Given the description of an element on the screen output the (x, y) to click on. 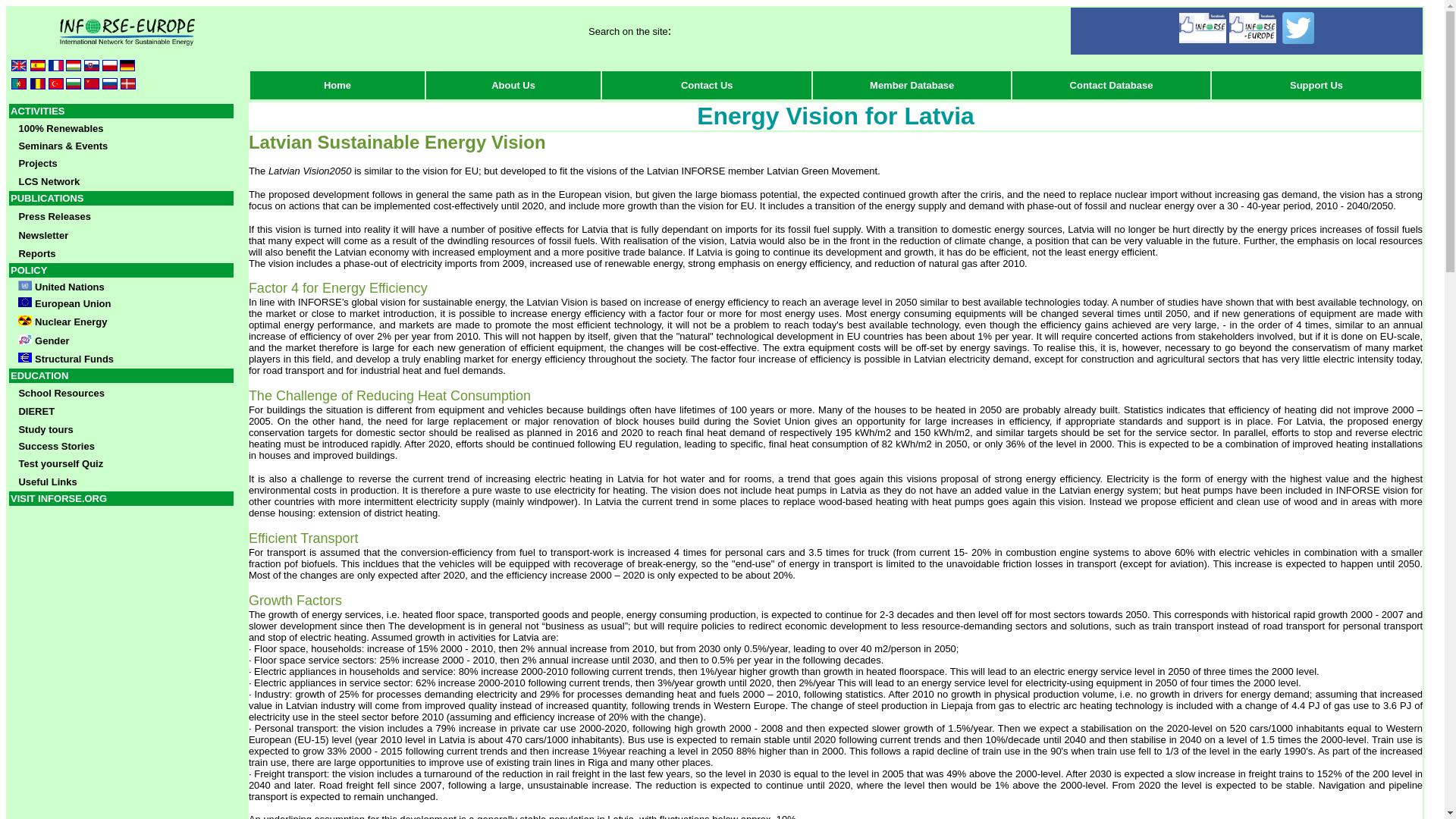
Support Us (1316, 83)
Member Database (911, 83)
Gender (42, 339)
POLICY (28, 269)
About Us (513, 83)
Newsletter (42, 233)
Structural Funds (65, 358)
Home (336, 83)
Reports (36, 251)
European Union (72, 303)
